Given the description of an element on the screen output the (x, y) to click on. 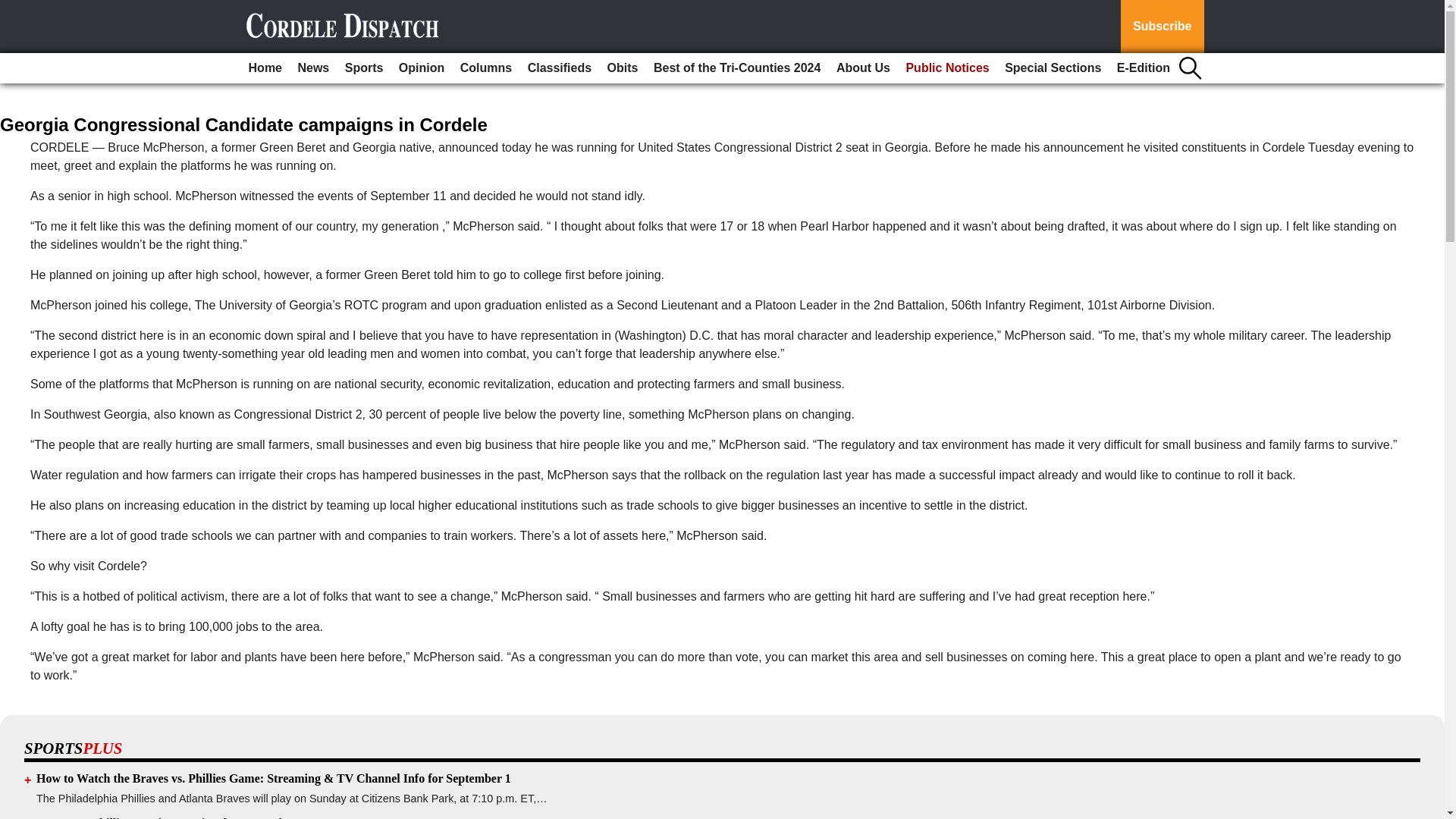
Home (265, 68)
About Us (862, 68)
Sports (364, 68)
Subscribe (1162, 26)
Special Sections (1052, 68)
Obits (623, 68)
Opinion (421, 68)
Columns (486, 68)
Best of the Tri-Counties 2024 (737, 68)
